Given the description of an element on the screen output the (x, y) to click on. 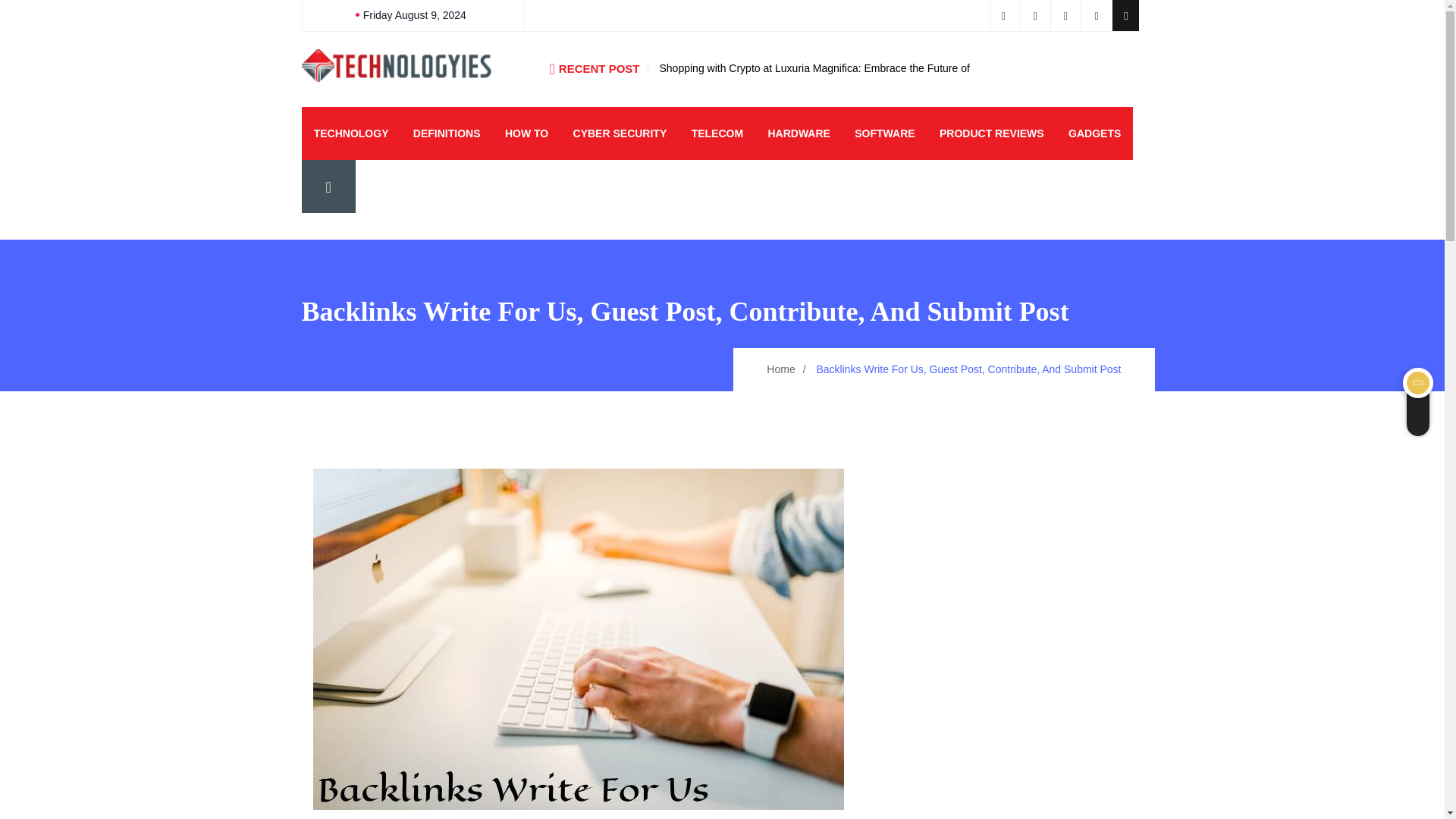
TECHNOLOGY (351, 133)
DEFINITIONS (447, 133)
